Given the description of an element on the screen output the (x, y) to click on. 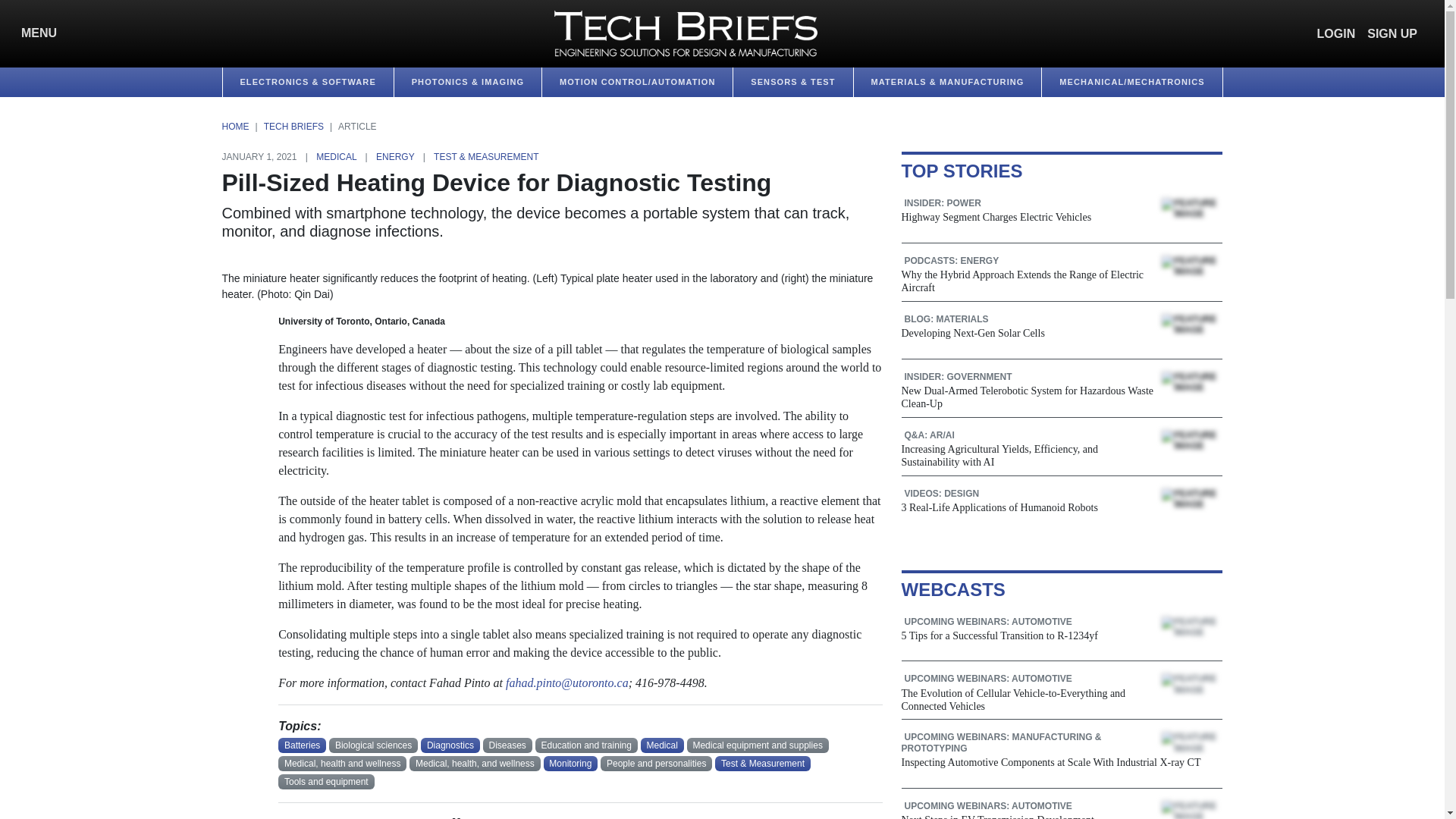
MENU (35, 33)
LOGIN (1336, 32)
SIGN UP (1392, 32)
